Given the description of an element on the screen output the (x, y) to click on. 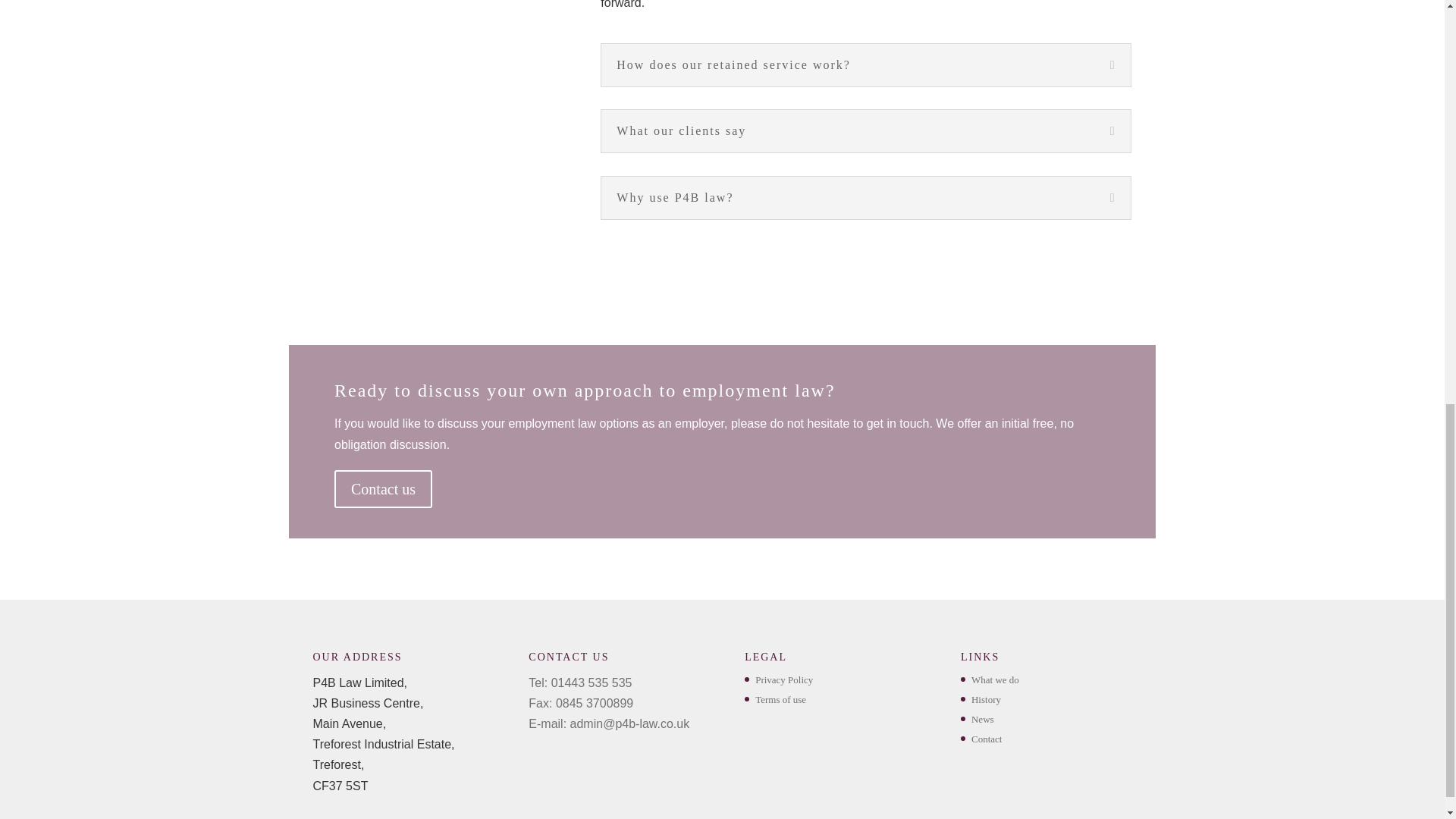
Contact us (383, 488)
History (986, 699)
Fax: 0845 3700899 (580, 703)
Privacy Policy (783, 679)
Tel: 01443 535 535 (579, 682)
Terms of use (780, 699)
What we do (995, 679)
